Given the description of an element on the screen output the (x, y) to click on. 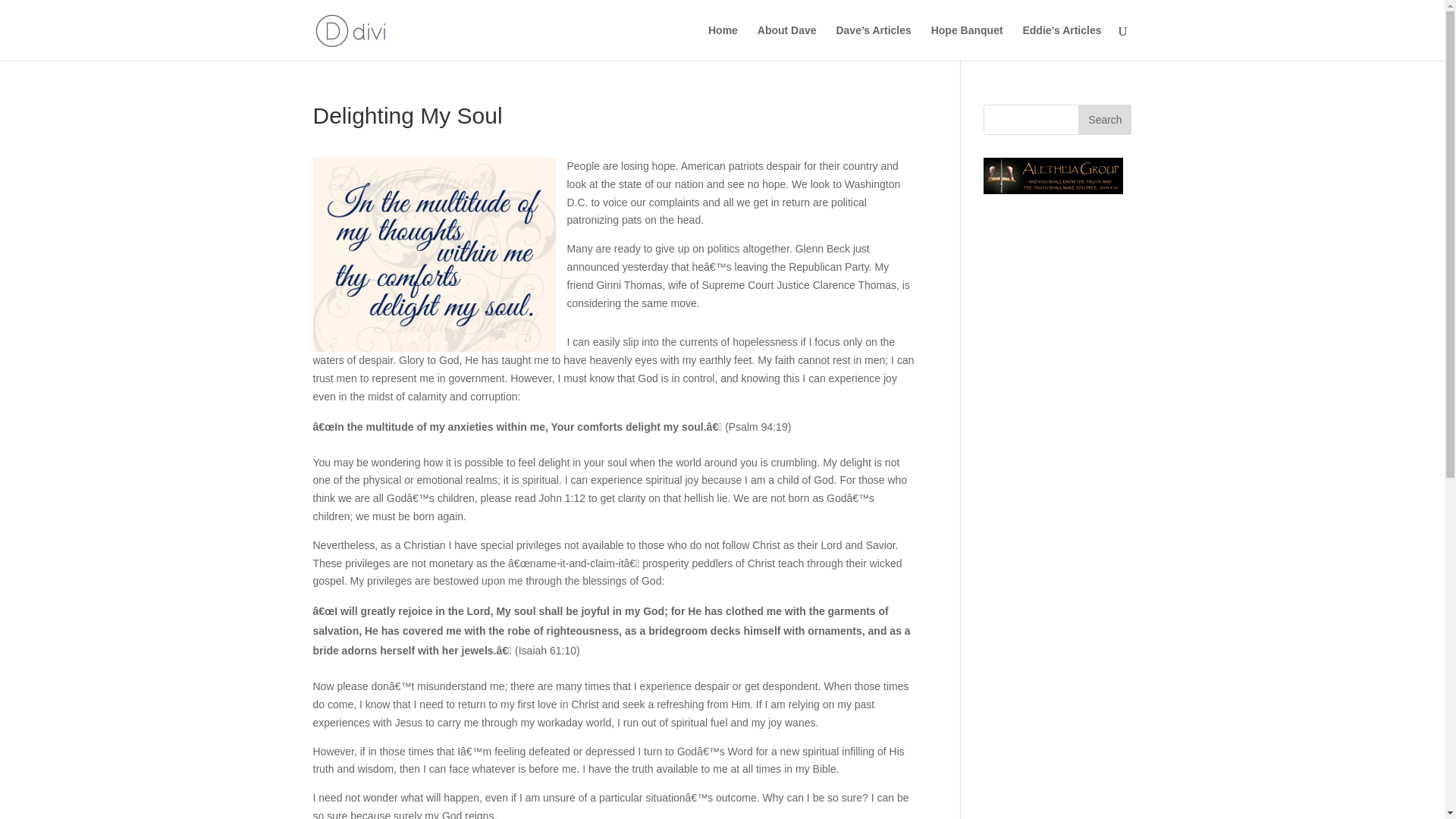
Search (1104, 119)
Search (1104, 119)
Home (722, 42)
Hope Banquet (967, 42)
About Dave (786, 42)
